Given the description of an element on the screen output the (x, y) to click on. 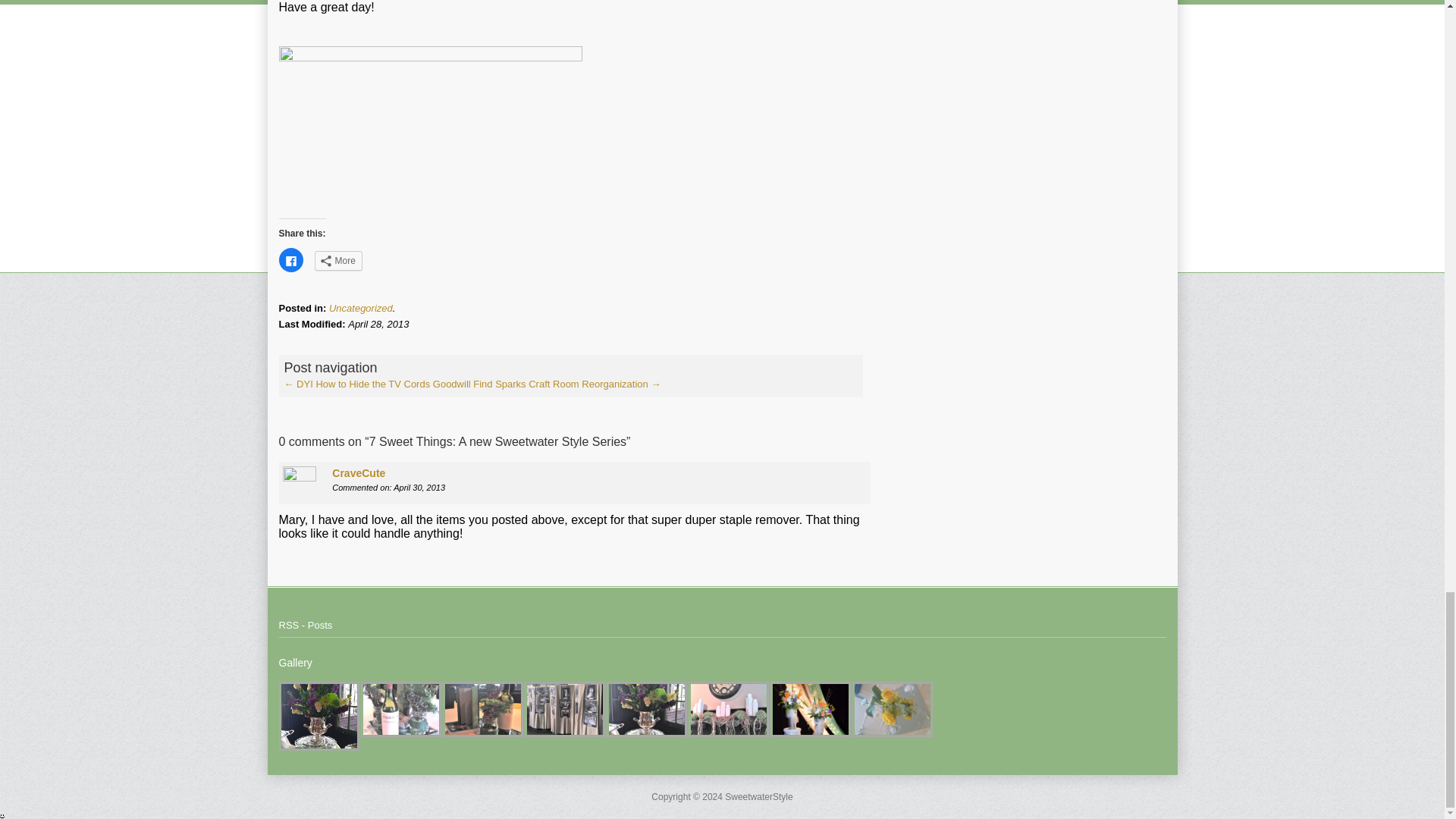
Subscribe to Posts (306, 624)
toniaurn (319, 715)
More (337, 260)
CraveCute (358, 472)
Uncategorized (361, 307)
Click to share on Facebook (290, 259)
